Given the description of an element on the screen output the (x, y) to click on. 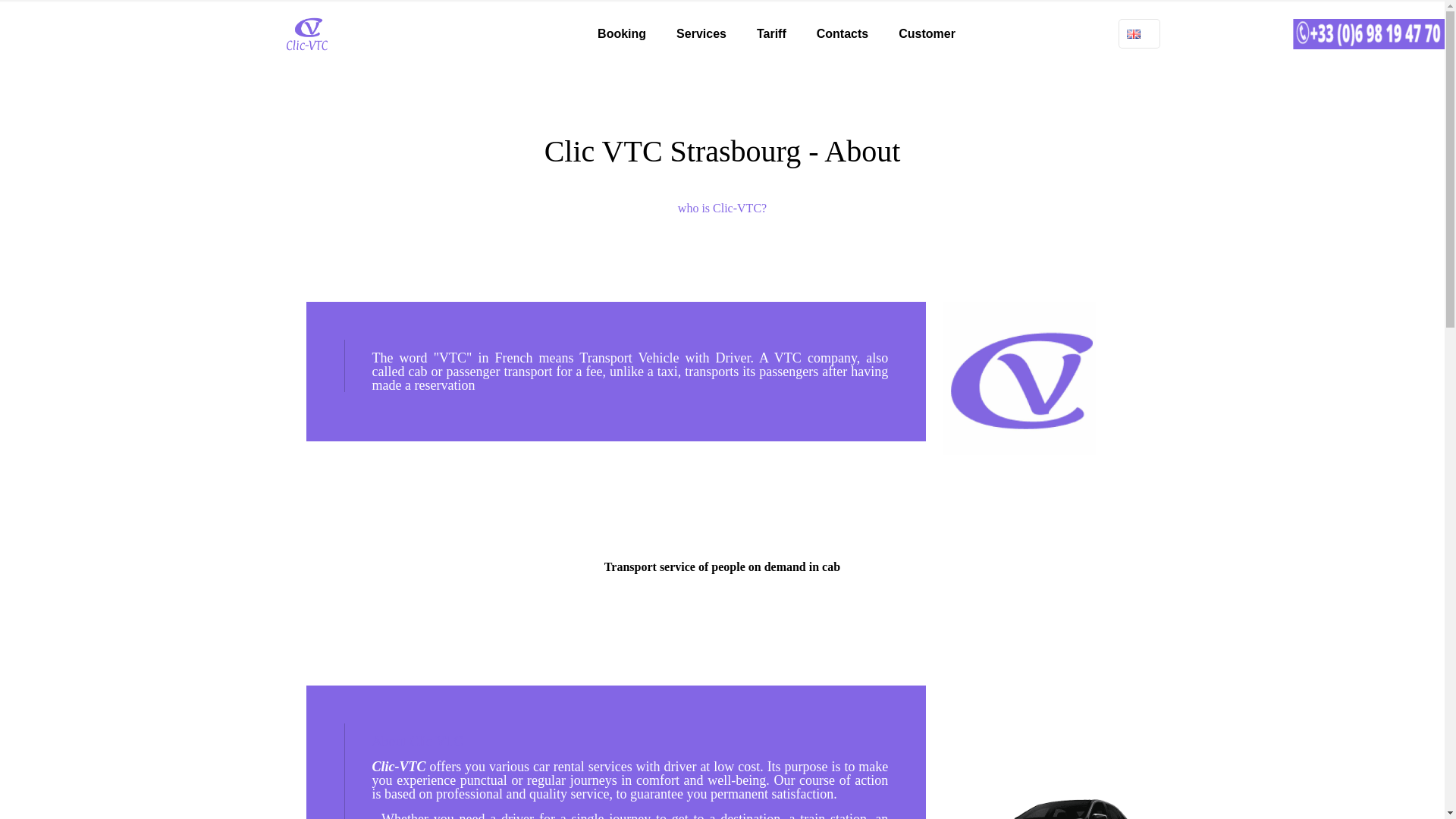
Customer (927, 33)
Services (701, 33)
Contacts (842, 33)
Booking (621, 33)
1-3 passenger sedan (1046, 809)
